Given the description of an element on the screen output the (x, y) to click on. 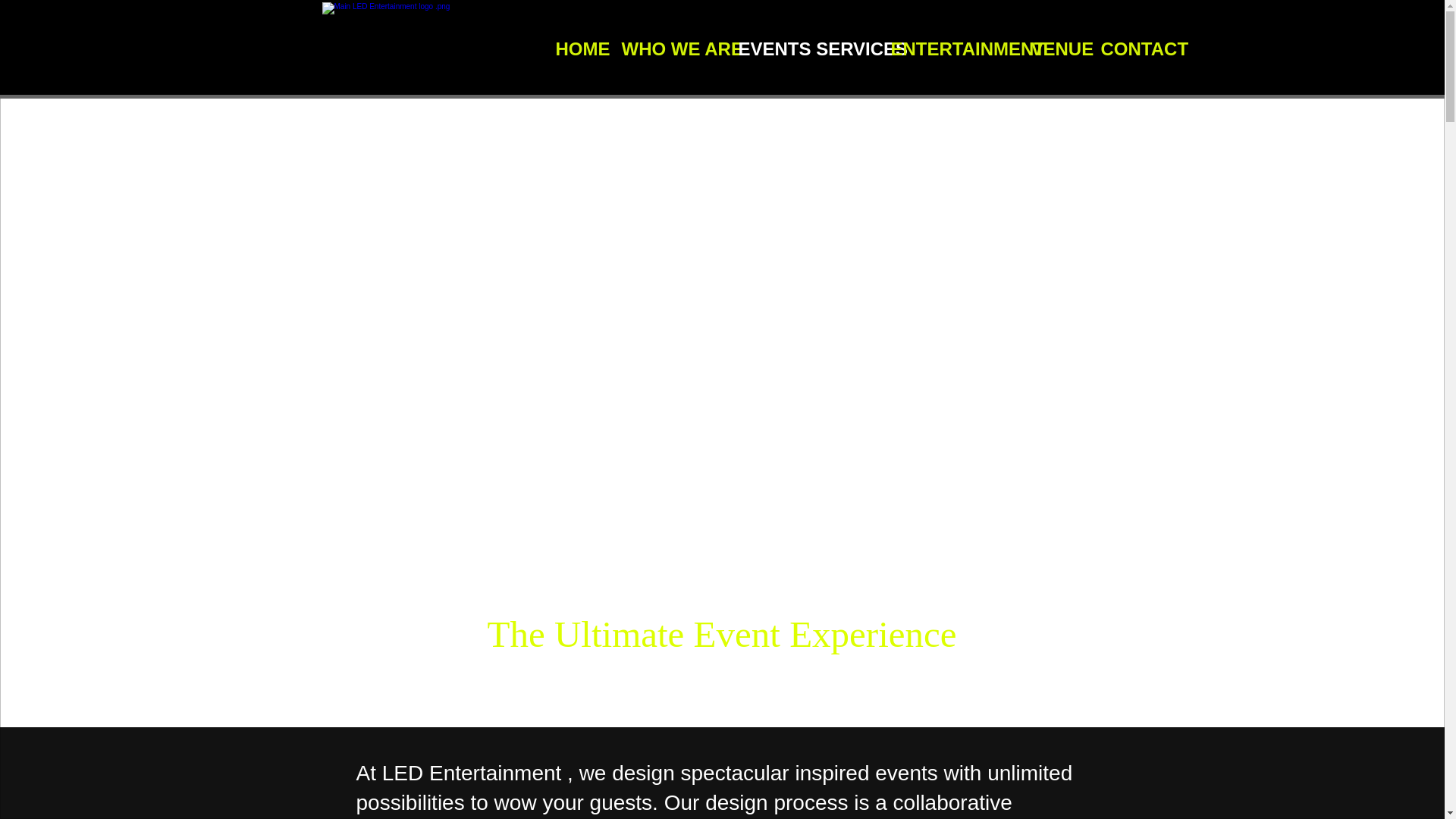
WHO WE ARE (668, 48)
ENTERTAINMENT (949, 48)
CONTACT (1134, 48)
HOME (577, 48)
VENUE (1054, 48)
EVENTS SERVICES (802, 48)
